Given the description of an element on the screen output the (x, y) to click on. 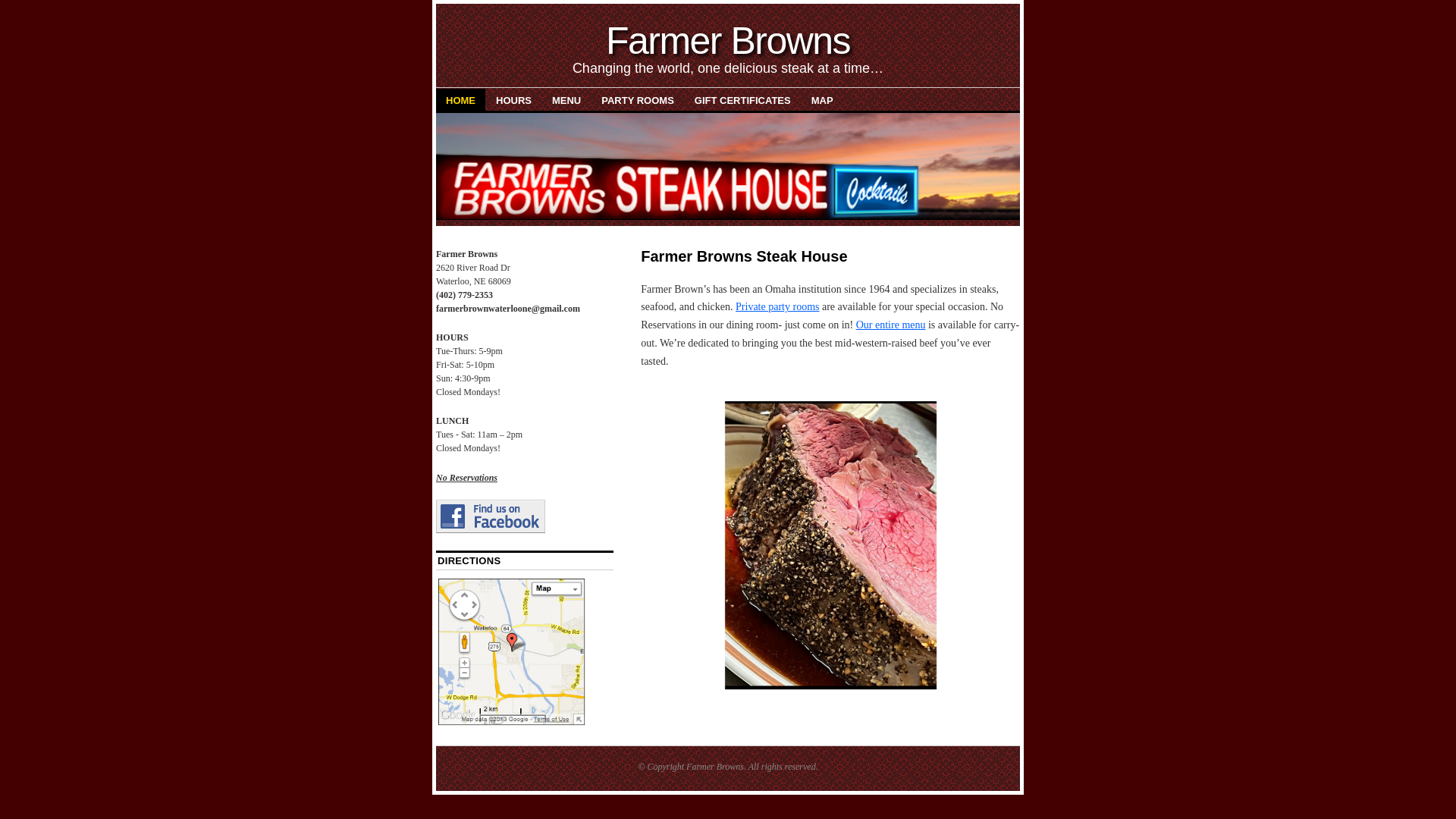
Farmer Browns (727, 40)
Private party rooms (776, 306)
Farmer Browns (714, 766)
Menu (891, 324)
HOURS (513, 99)
HOME (459, 99)
GIFT CERTIFICATES (742, 99)
MAP (822, 99)
MENU (566, 99)
PARTY ROOMS (637, 99)
Our entire menu (891, 324)
Party Rooms (776, 306)
Farmer Browns (727, 40)
